Given the description of an element on the screen output the (x, y) to click on. 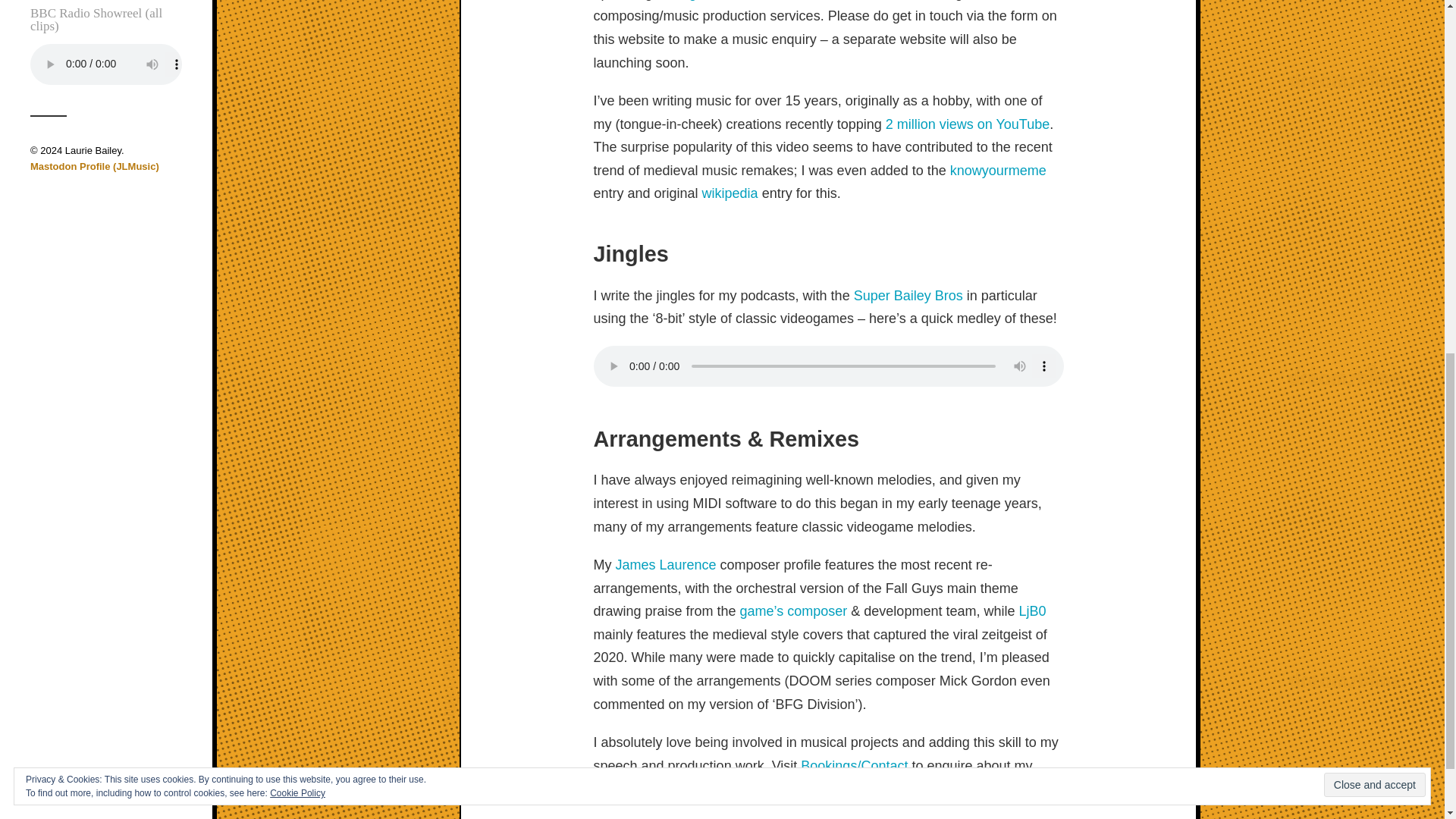
LjB0 (1031, 611)
2 million views on YouTube (967, 124)
indie game (689, 0)
wikipedia (729, 192)
Laurie Bailey (92, 150)
knowyourmeme (998, 170)
Cookie Policy (296, 118)
Close and accept (1374, 110)
Super Bailey Bros (907, 295)
James Laurence (665, 564)
Close and accept (1374, 110)
